Given the description of an element on the screen output the (x, y) to click on. 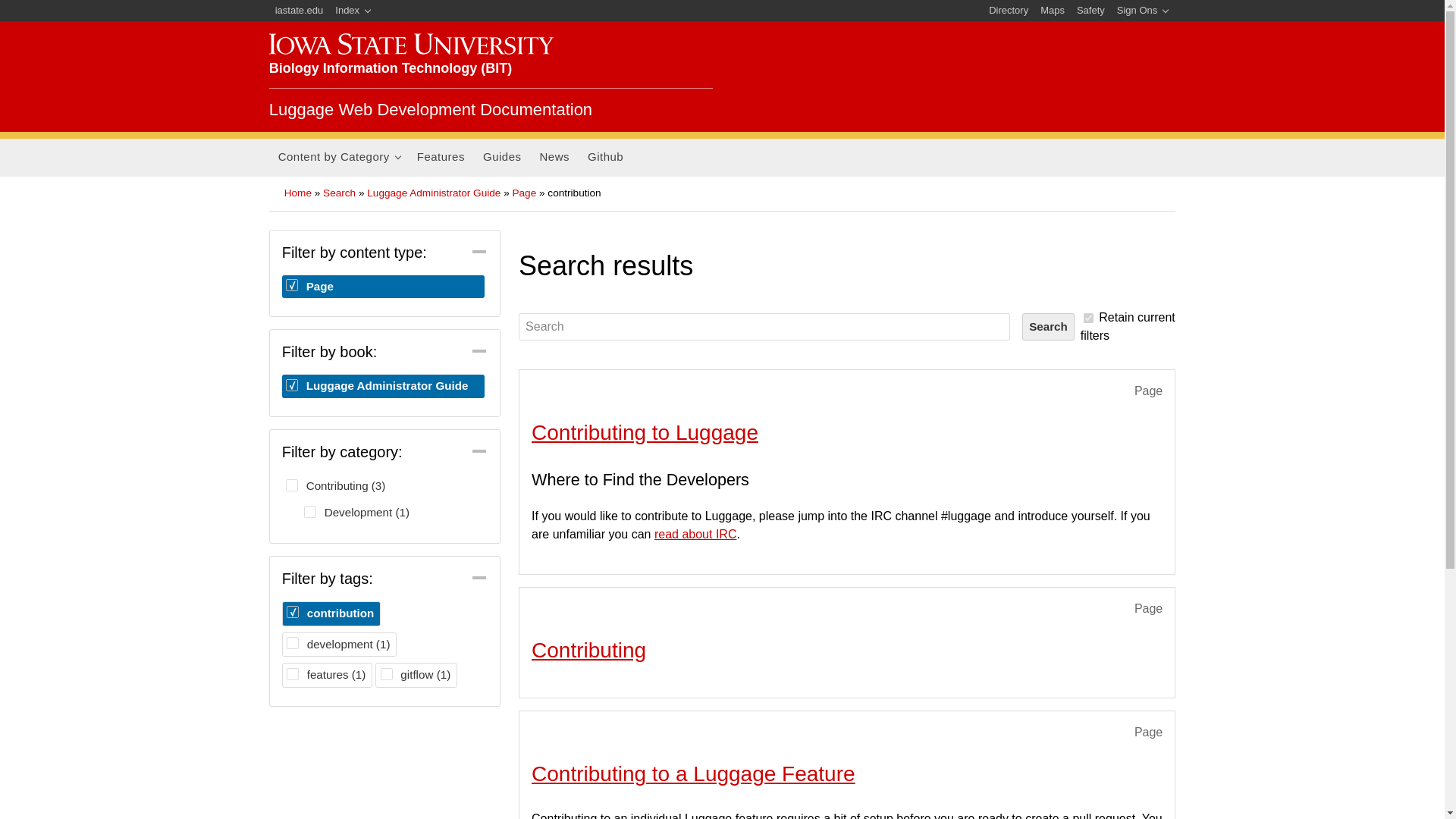
Index (353, 10)
Home (430, 108)
1 (1088, 317)
Skip to main content (685, 1)
Directory (1007, 10)
Search (1048, 326)
Sign Ons (1142, 10)
Iowa State University Home Page (299, 10)
Iowa State University Homepage (411, 43)
